Given the description of an element on the screen output the (x, y) to click on. 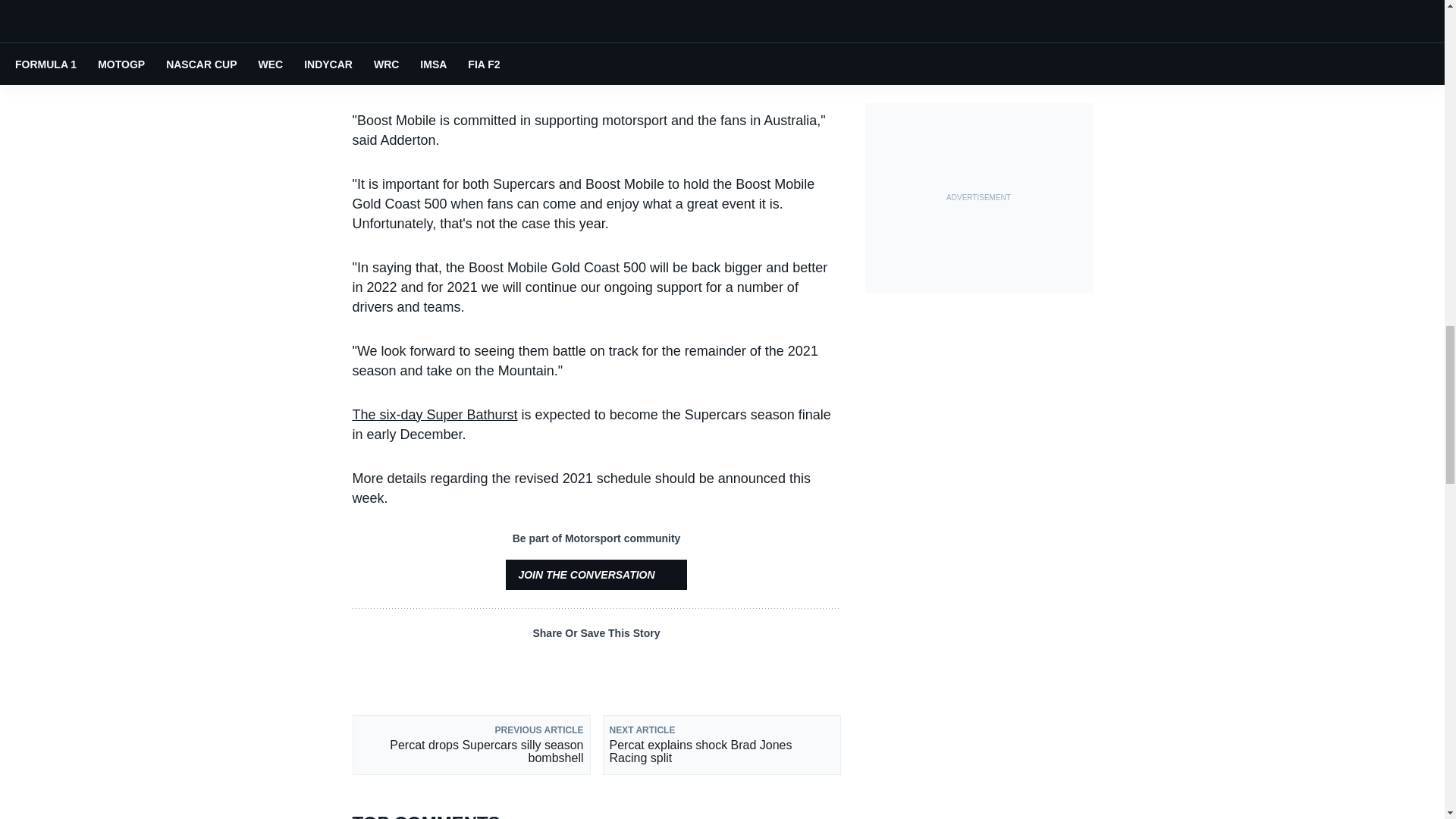
Percat drops Supercars silly season bombshell (470, 743)
Percat explains shock Brad Jones Racing split (721, 743)
